Given the description of an element on the screen output the (x, y) to click on. 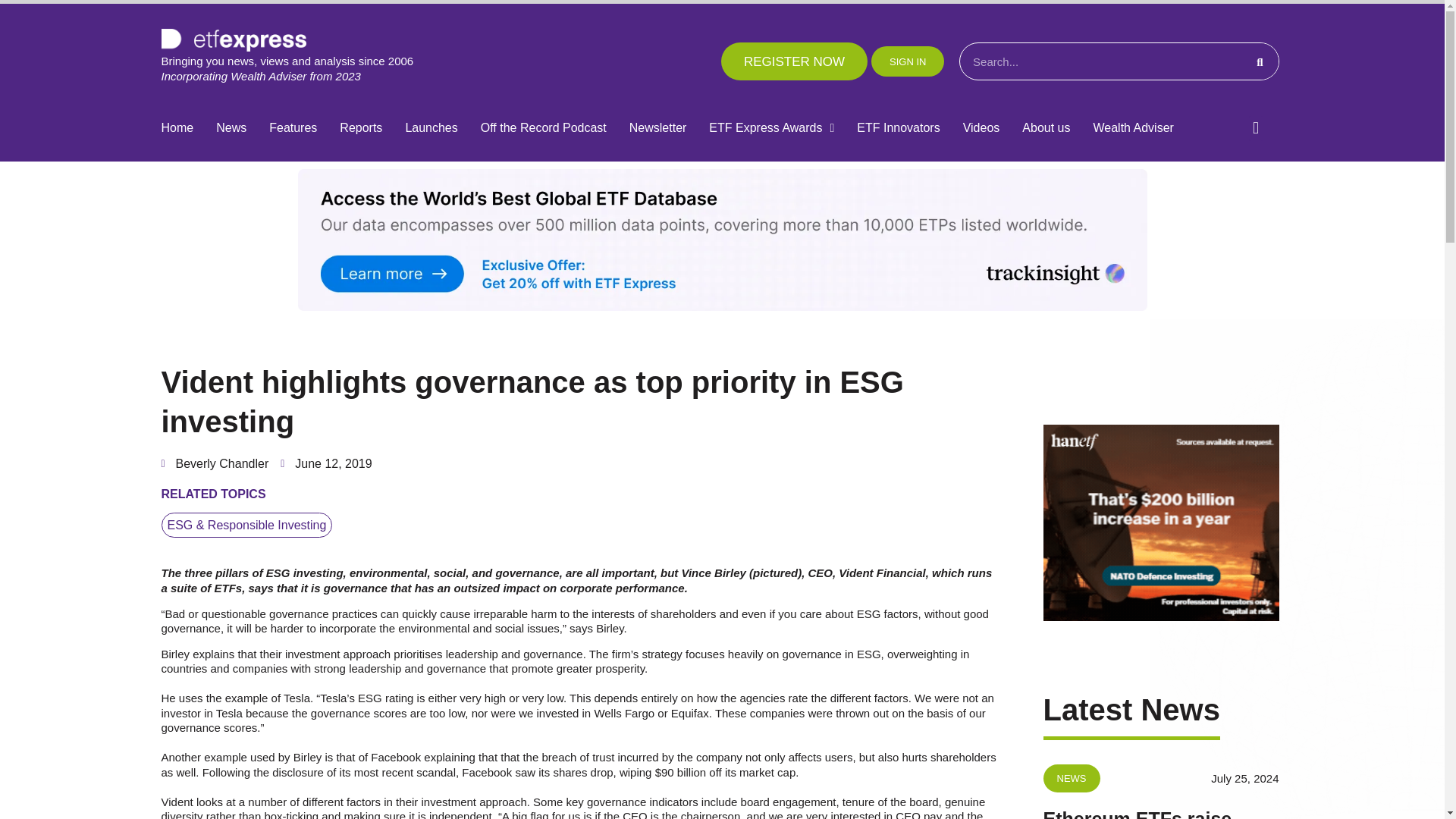
REGISTER NOW (793, 61)
SIGN IN (906, 60)
